Given the description of an element on the screen output the (x, y) to click on. 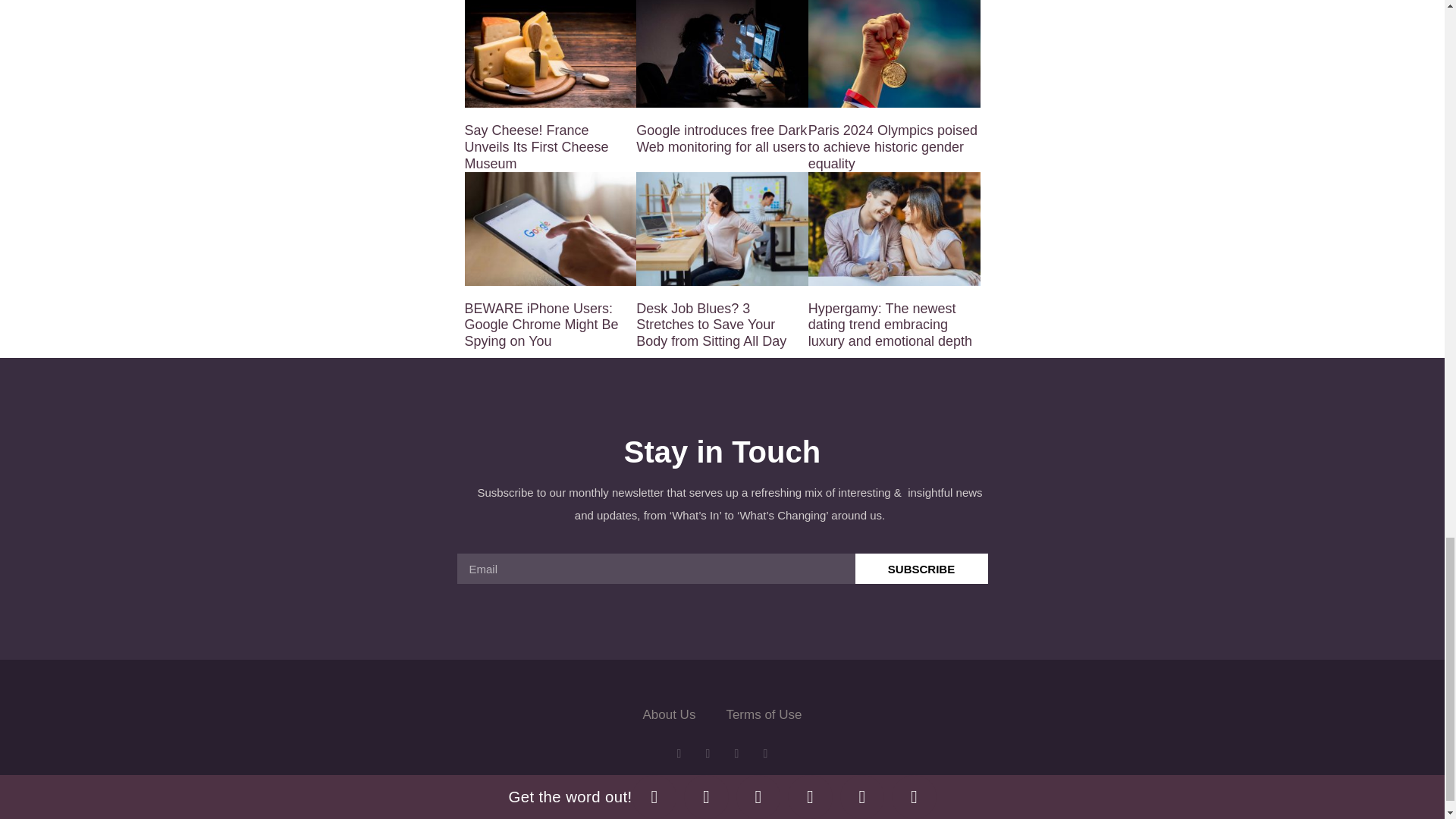
Say Cheese! France Unveils Its First Cheese Museum (536, 146)
SUBSCRIBE (922, 568)
Google introduces free Dark Web monitoring for all users (721, 138)
About Us (668, 714)
BEWARE iPhone Users: Google Chrome Might Be Spying on You (540, 324)
